Given the description of an element on the screen output the (x, y) to click on. 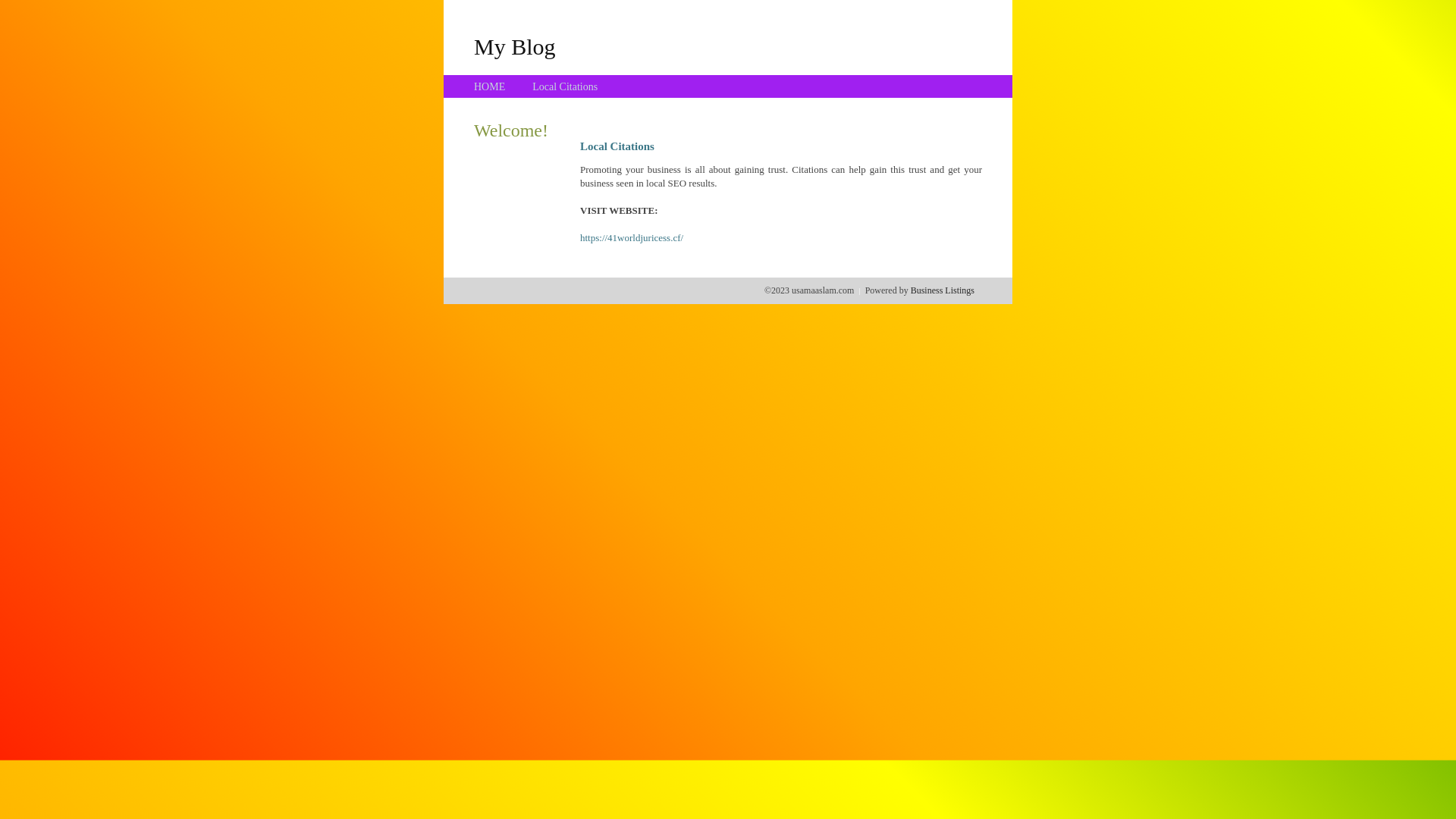
Business Listings Element type: text (942, 290)
Local Citations Element type: text (564, 86)
https://41worldjuricess.cf/ Element type: text (631, 237)
HOME Element type: text (489, 86)
My Blog Element type: text (514, 46)
